Given the description of an element on the screen output the (x, y) to click on. 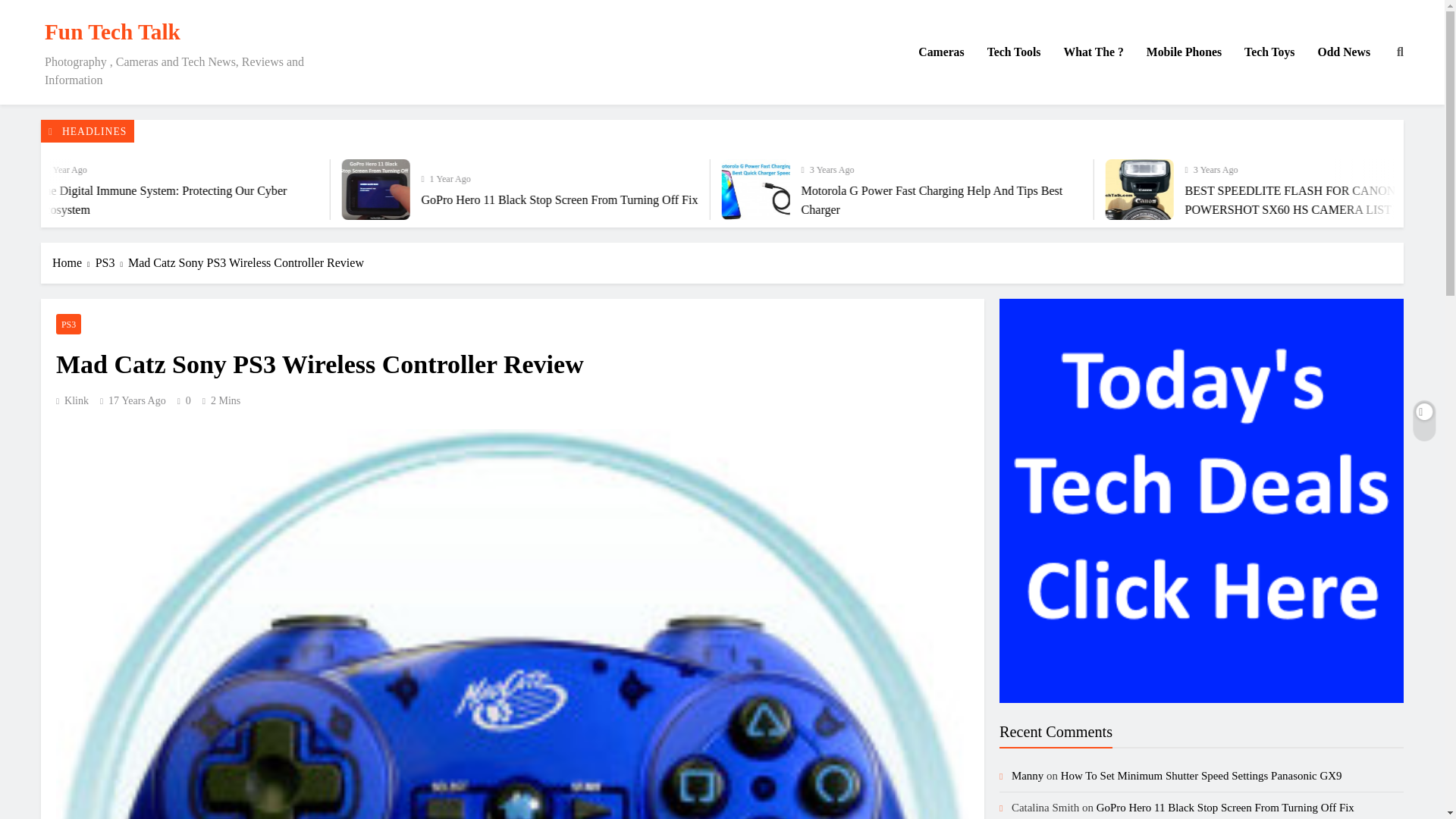
Tech Tools (1013, 51)
1 Year Ago (130, 177)
An In-Depth Review of the Ricoh GR III Diary Edition (120, 199)
Tech Toys (1269, 51)
What The ? (1092, 51)
The Digital Immune System: Protecting Our Cyber Ecosystem (290, 189)
1 Year Ago (870, 177)
Odd News (1343, 51)
3 Years Ago (1237, 168)
BEST SPEEDLITE FLASH FOR CANON POWERSHOT SX60 HS CAMERA LIST (1389, 189)
1 Year Ago (497, 168)
Fun Tech Talk (112, 31)
Motorola G Power Fast Charging Help And Tips Best Charger (1021, 189)
GoPro Hero 11 Black Stop Screen From Turning Off Fix (651, 189)
BEST SPEEDLITE FLASH FOR CANON POWERSHOT SX60 HS CAMERA LIST (1385, 189)
